Given the description of an element on the screen output the (x, y) to click on. 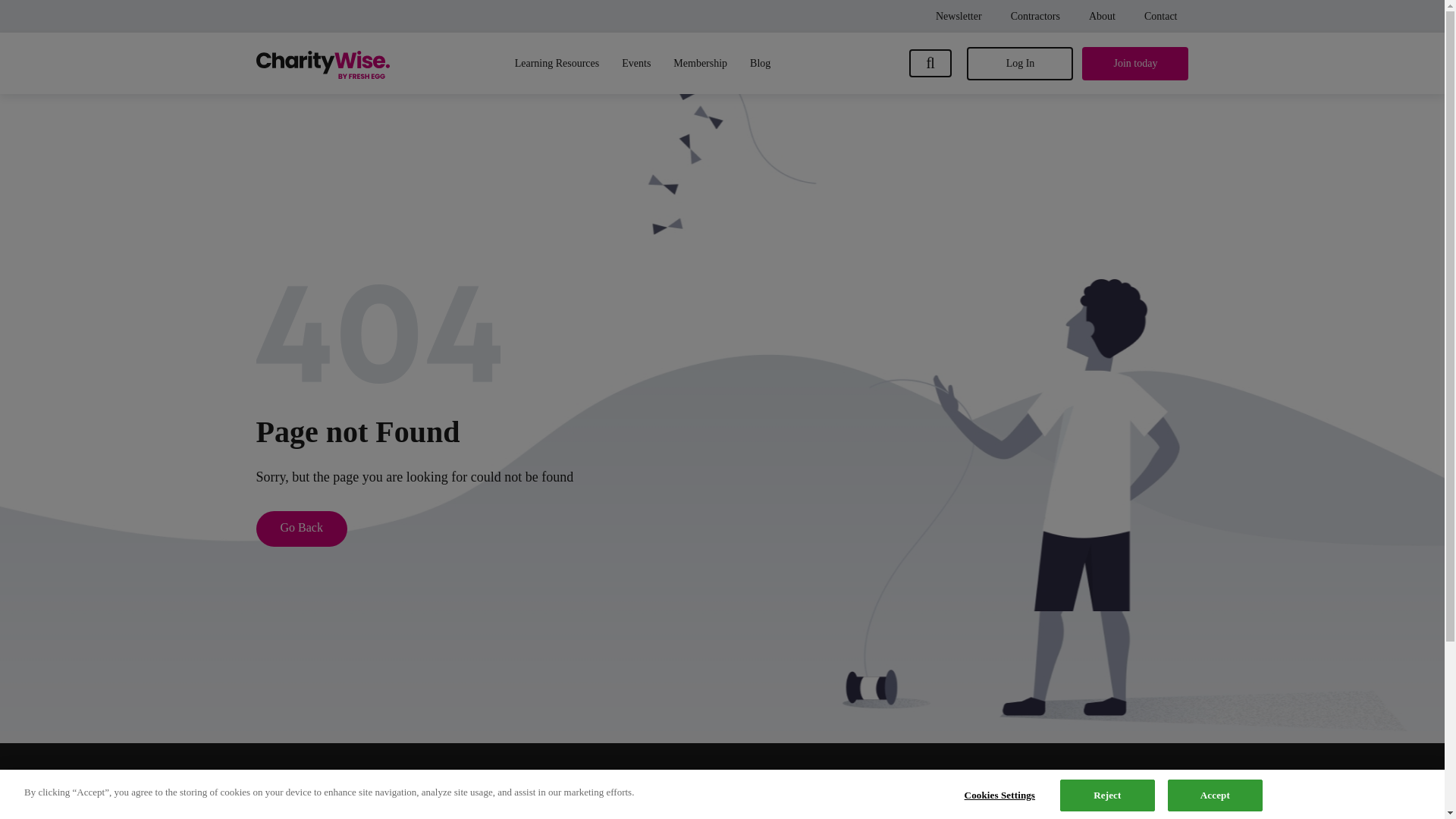
About (1102, 16)
Contractors (1034, 16)
Join today (1134, 63)
Learning Resources (557, 63)
Log In (1019, 63)
Newsletter (958, 16)
Contact (1160, 16)
CharityWise (323, 62)
CharityWise (323, 788)
